Given the description of an element on the screen output the (x, y) to click on. 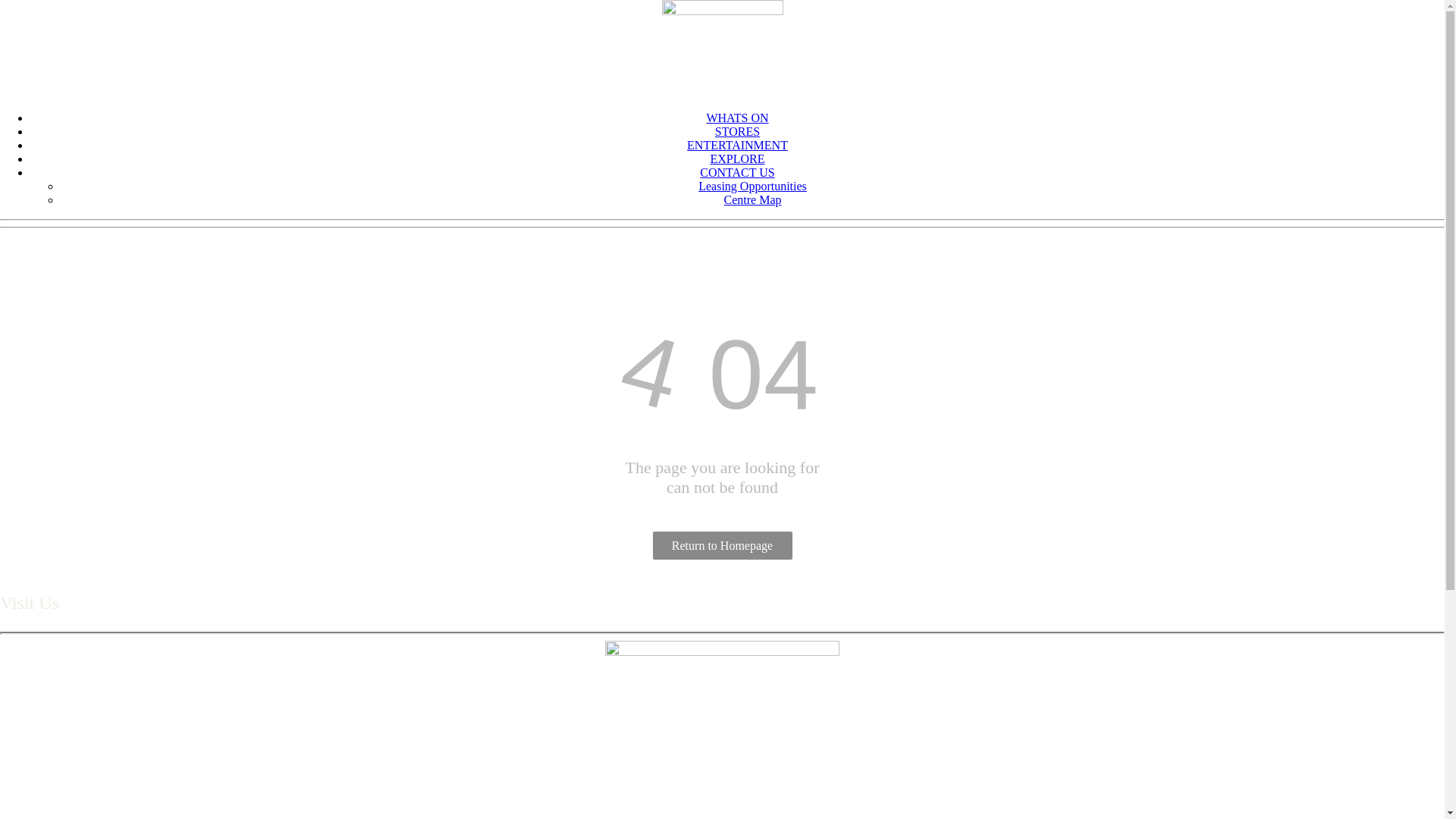
Leasing Opportunities Element type: text (752, 185)
ENTERTAINMENT Element type: text (737, 144)
CONTACT US Element type: text (736, 172)
WHATS ON Element type: text (737, 117)
STORES Element type: text (737, 131)
Return to Homepage Element type: text (721, 545)
EXPLORE Element type: text (736, 158)
Centre Map Element type: text (752, 199)
